Given the description of an element on the screen output the (x, y) to click on. 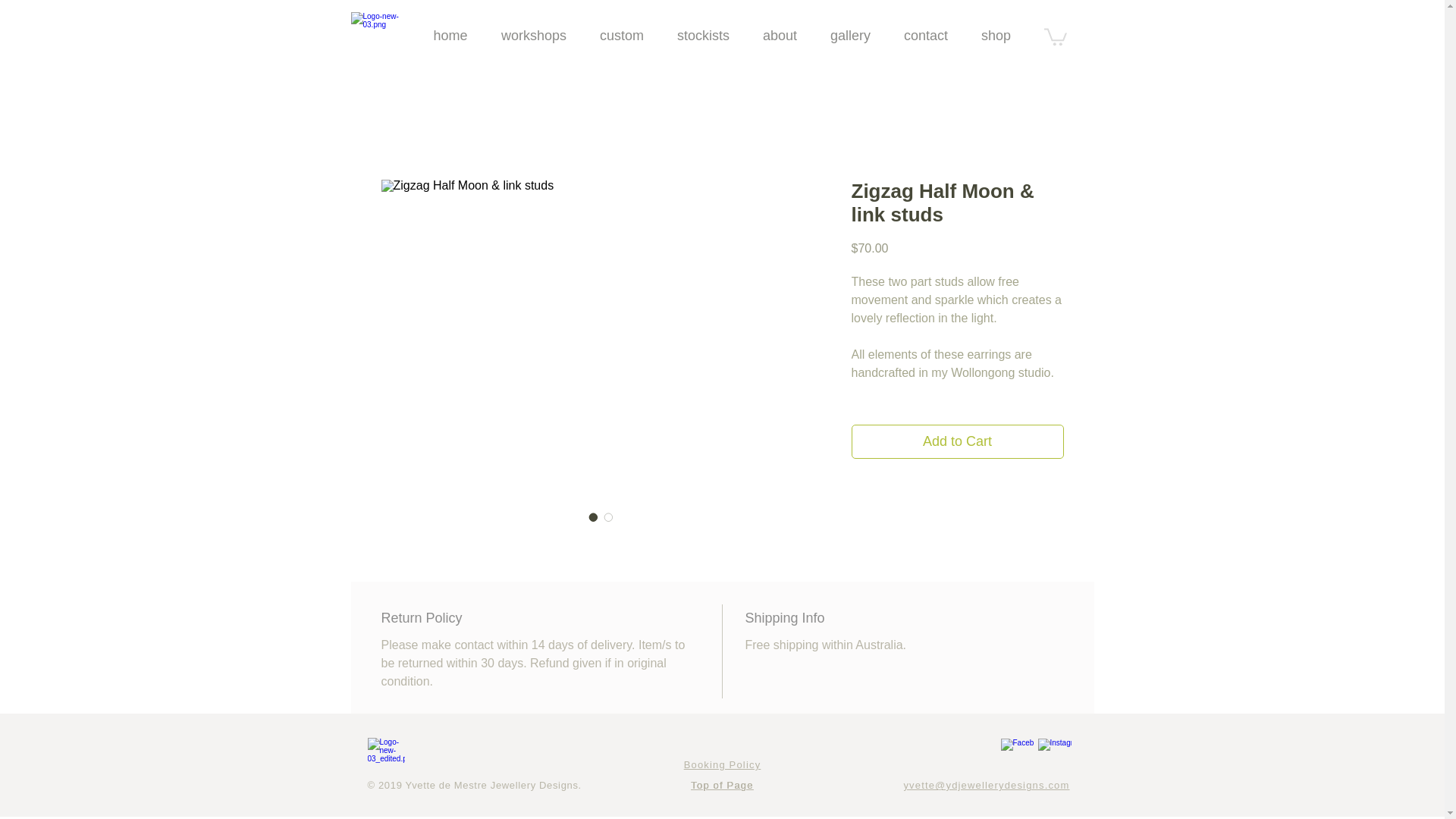
shop (995, 35)
about (779, 35)
Top of Page (721, 785)
Add to Cart (956, 441)
workshops (532, 35)
contact (924, 35)
home (450, 35)
Home (385, 753)
stockists (702, 35)
gallery (849, 35)
